Given the description of an element on the screen output the (x, y) to click on. 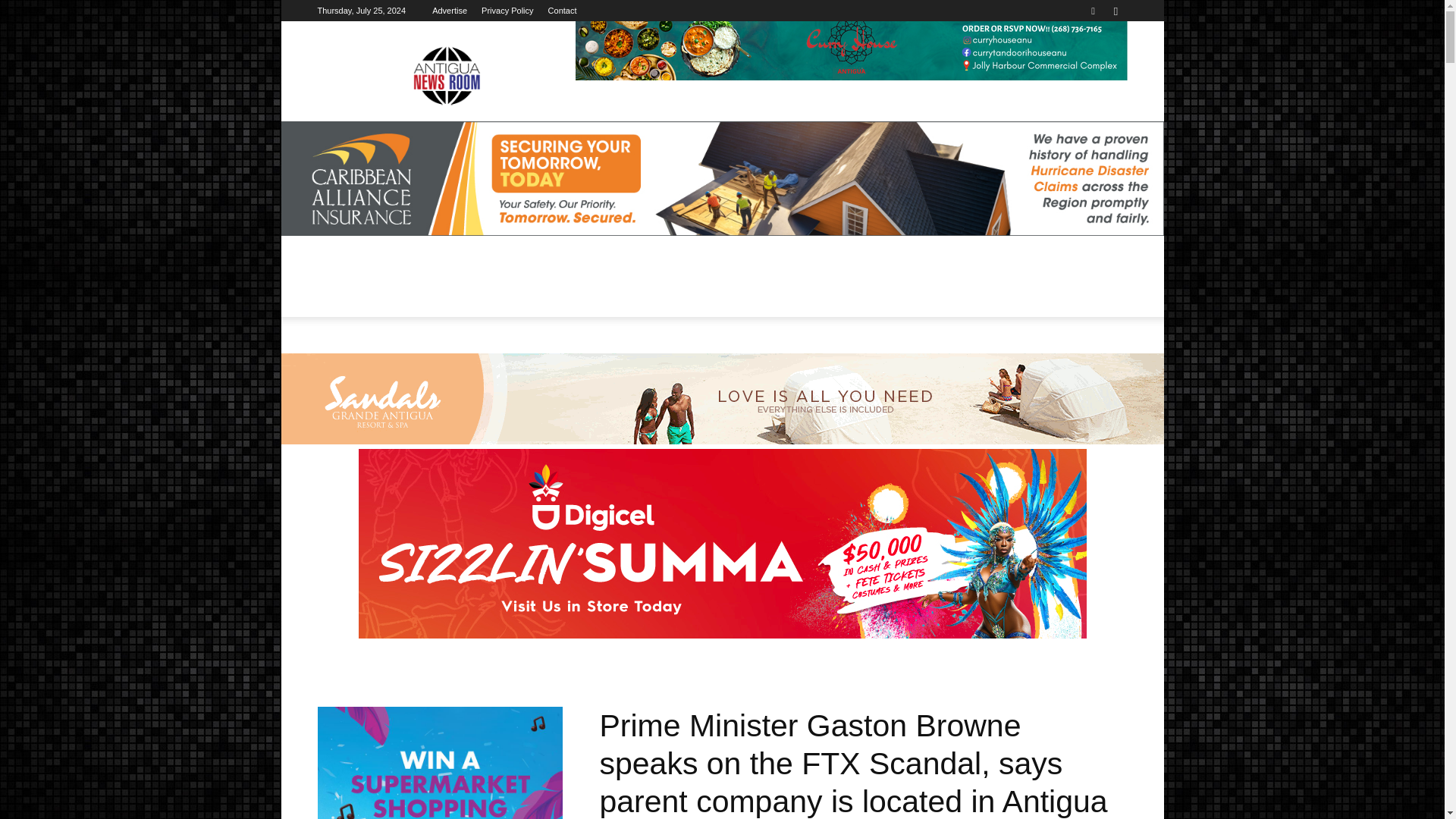
LOCAL NEWS (416, 286)
Privacy Policy (506, 10)
Search (1085, 64)
Advertise (449, 10)
Contact (562, 10)
Instagram (1114, 10)
